Given the description of an element on the screen output the (x, y) to click on. 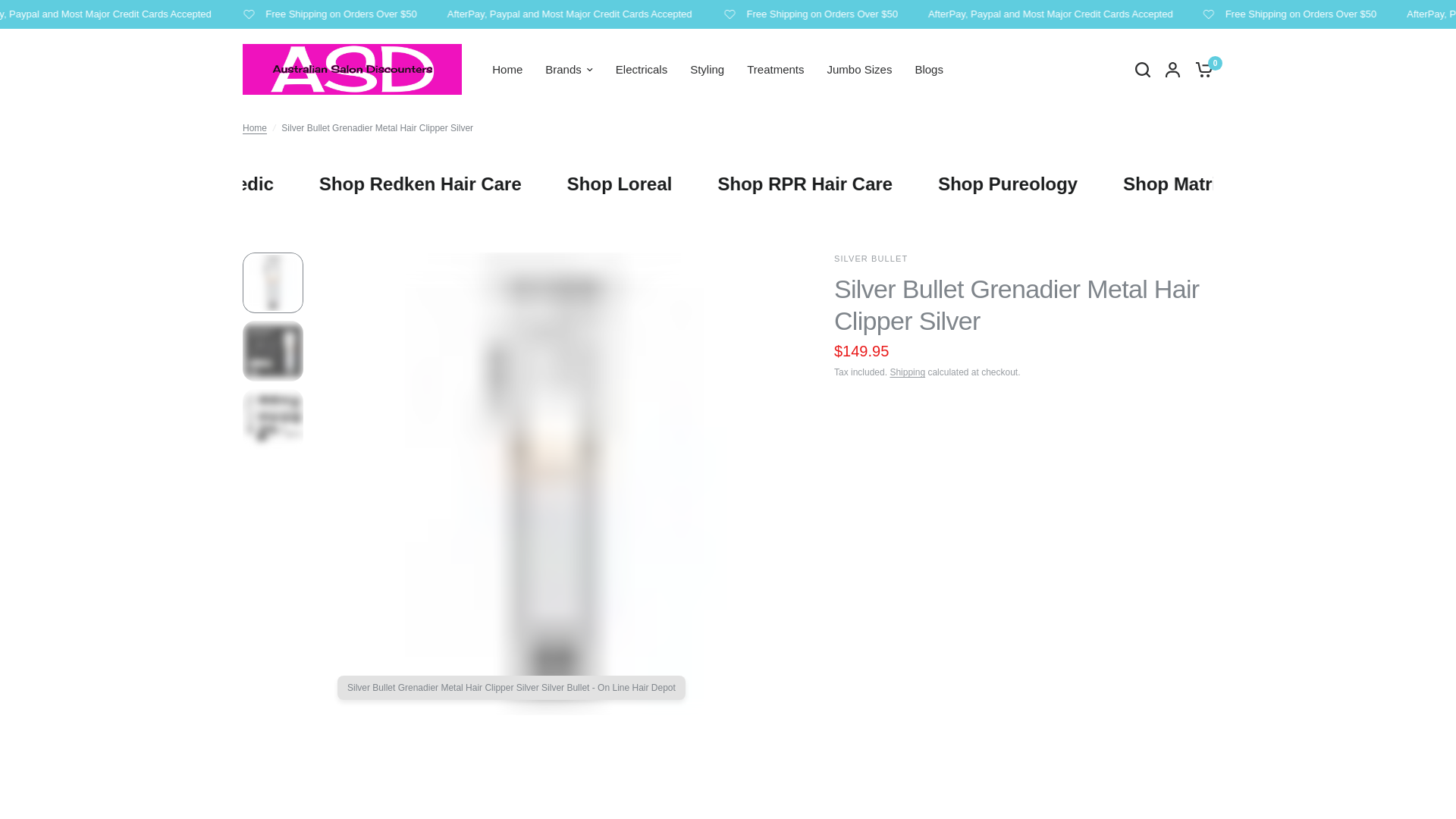
Shop Redken Hair Care (478, 184)
Shop Matrix Hair Care (1268, 184)
Shop Pureology (1058, 184)
Shop Loreal (673, 184)
Shop Redken Hair Care (481, 184)
Shop Pureology (1057, 184)
Shop Trichovedic (260, 184)
Shop RPR Hair Care (857, 184)
Shop RPR Hair Care (859, 184)
